Given the description of an element on the screen output the (x, y) to click on. 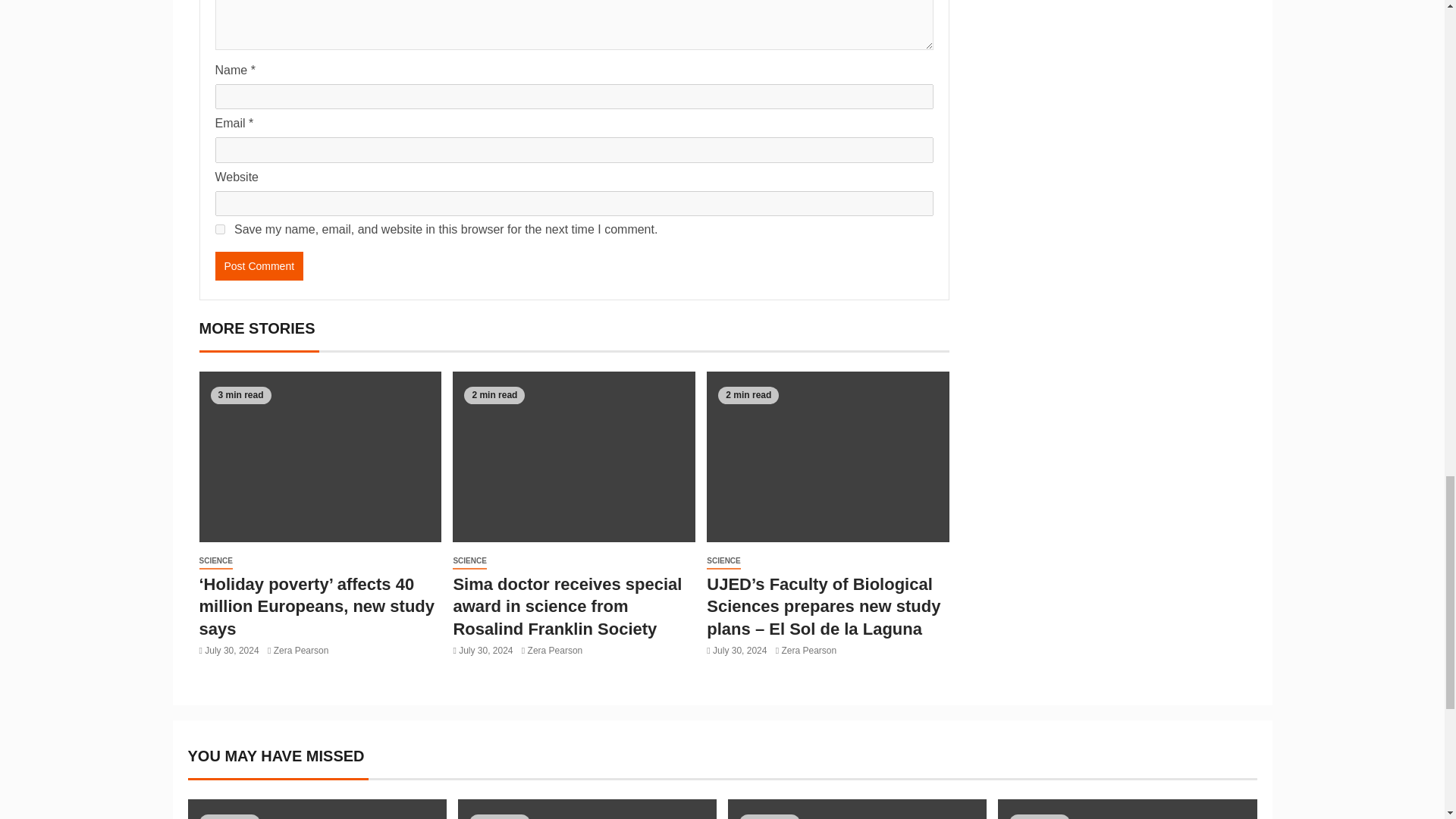
Post Comment (259, 265)
Post Comment (259, 265)
Zera Pearson (301, 650)
yes (220, 229)
SCIENCE (469, 561)
SCIENCE (214, 561)
